Given the description of an element on the screen output the (x, y) to click on. 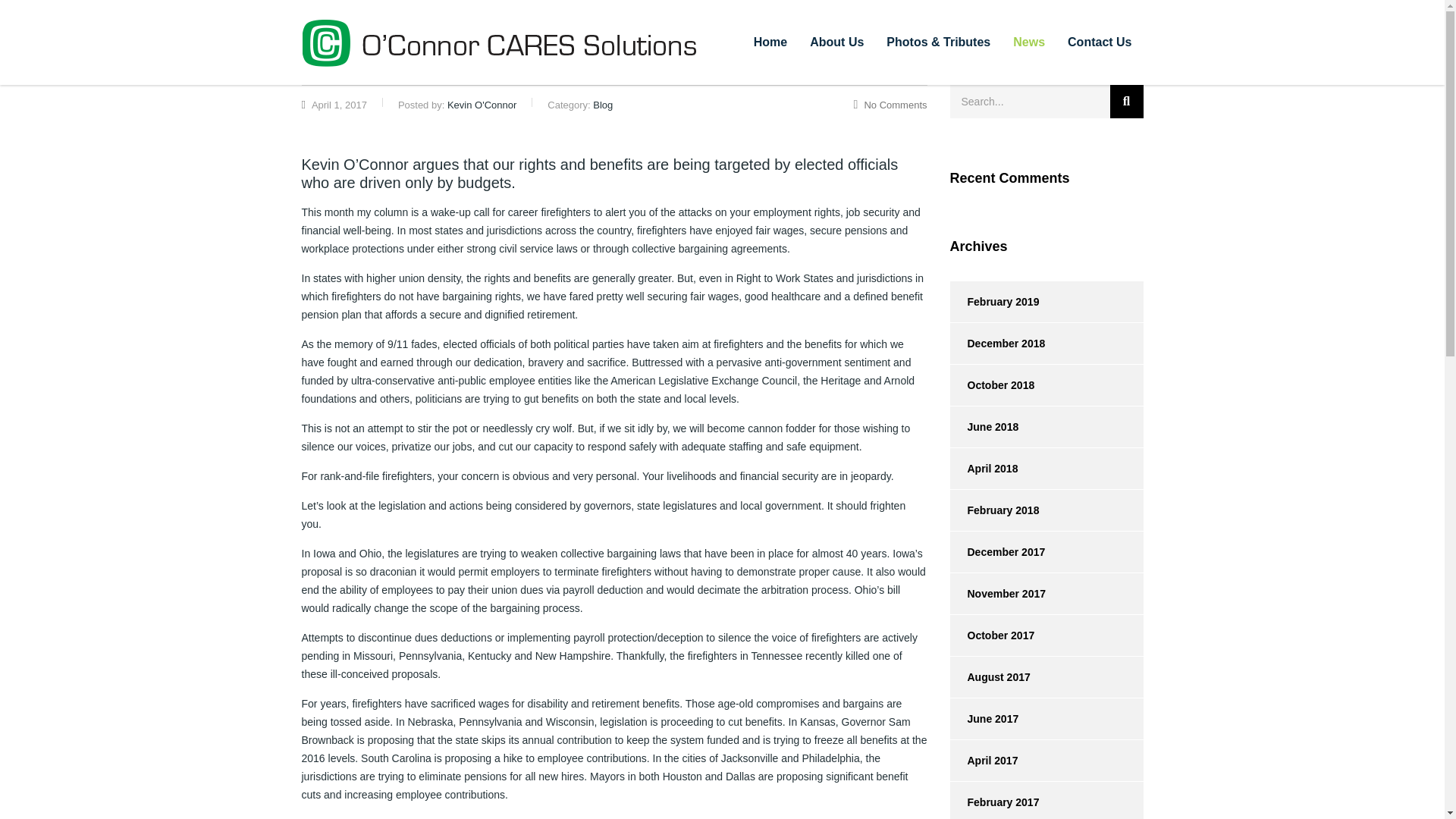
No Comments (890, 104)
November 2017 (997, 593)
February 2019 (994, 301)
October 2018 (991, 384)
About Us (836, 42)
News (1029, 42)
August 2017 (989, 676)
October 2017 (991, 635)
February 2017 (994, 800)
Contact Us (1099, 42)
December 2017 (997, 551)
June 2018 (983, 426)
Home (769, 42)
April 2018 (983, 467)
June 2017 (983, 718)
